Given the description of an element on the screen output the (x, y) to click on. 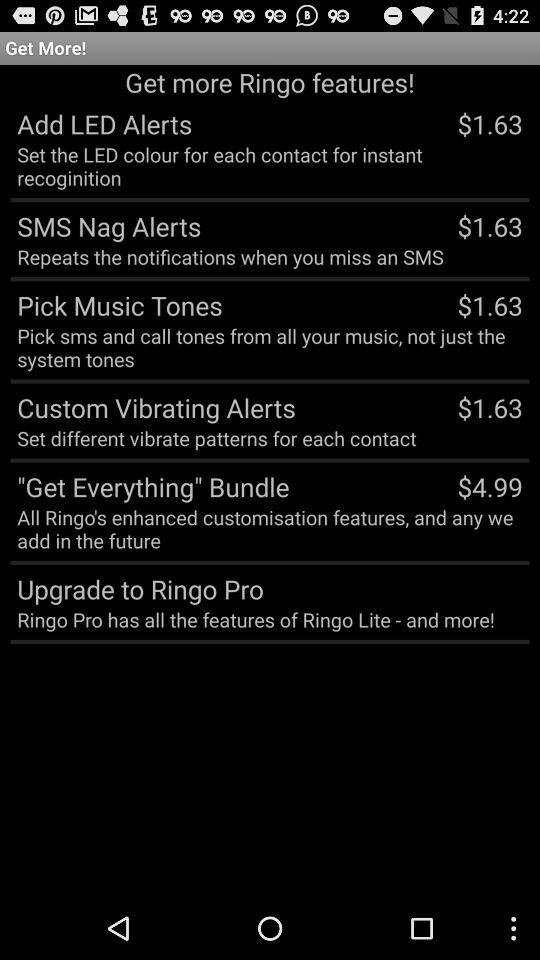
press $4.99 app (489, 486)
